Given the description of an element on the screen output the (x, y) to click on. 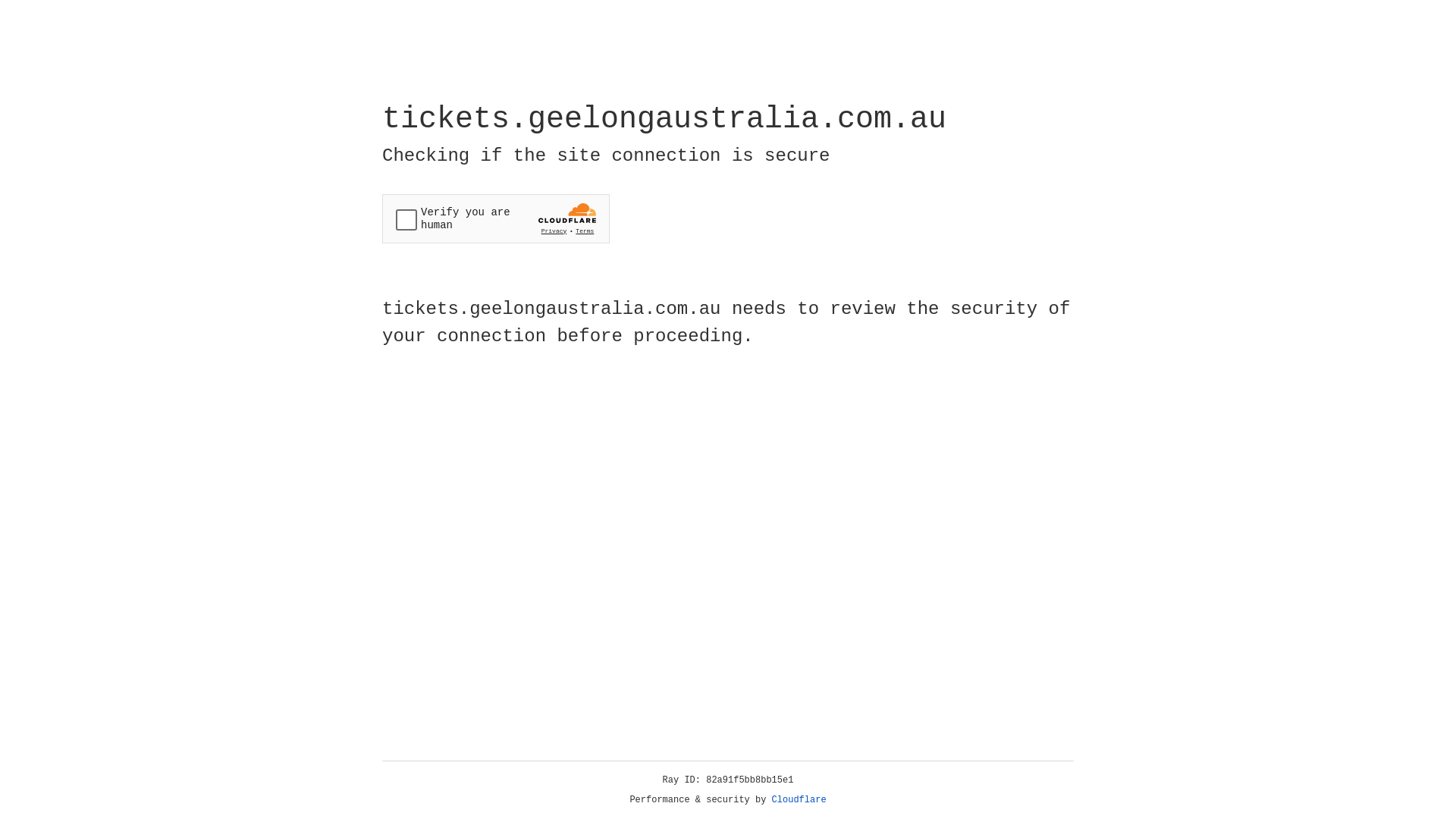
Widget containing a Cloudflare security challenge Element type: hover (495, 218)
Cloudflare Element type: text (798, 799)
